Given the description of an element on the screen output the (x, y) to click on. 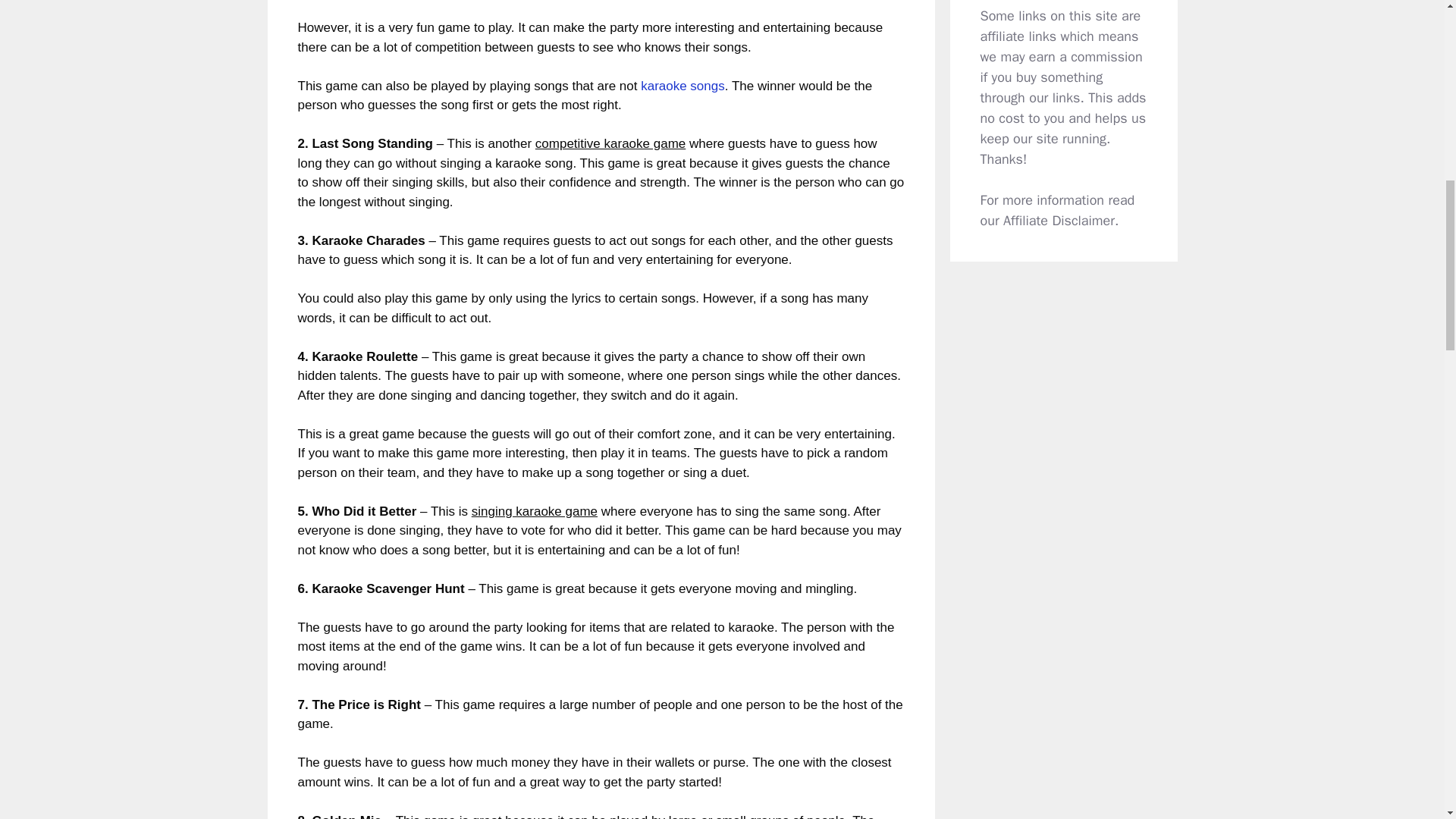
karaoke songs (682, 85)
Scroll back to top (1406, 720)
